Given the description of an element on the screen output the (x, y) to click on. 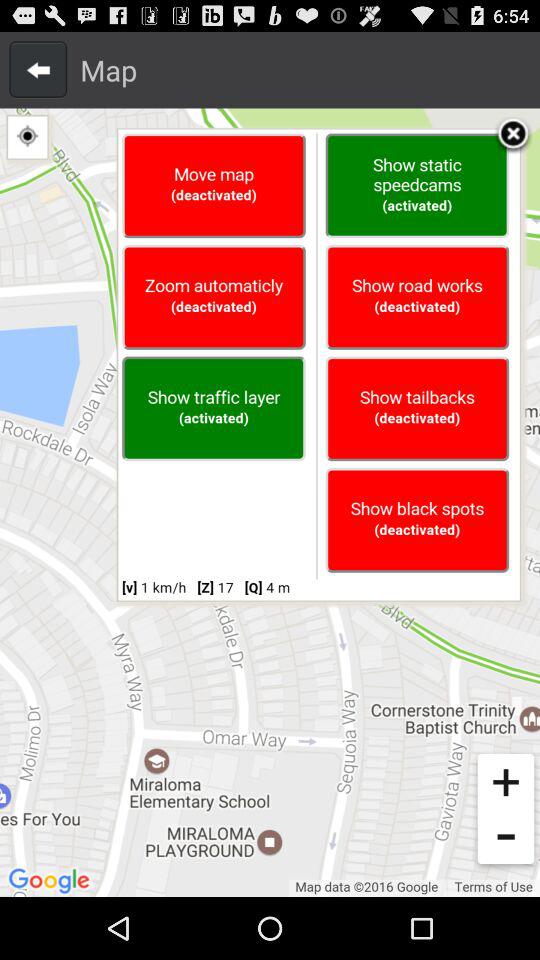
go to previous (38, 69)
